Given the description of an element on the screen output the (x, y) to click on. 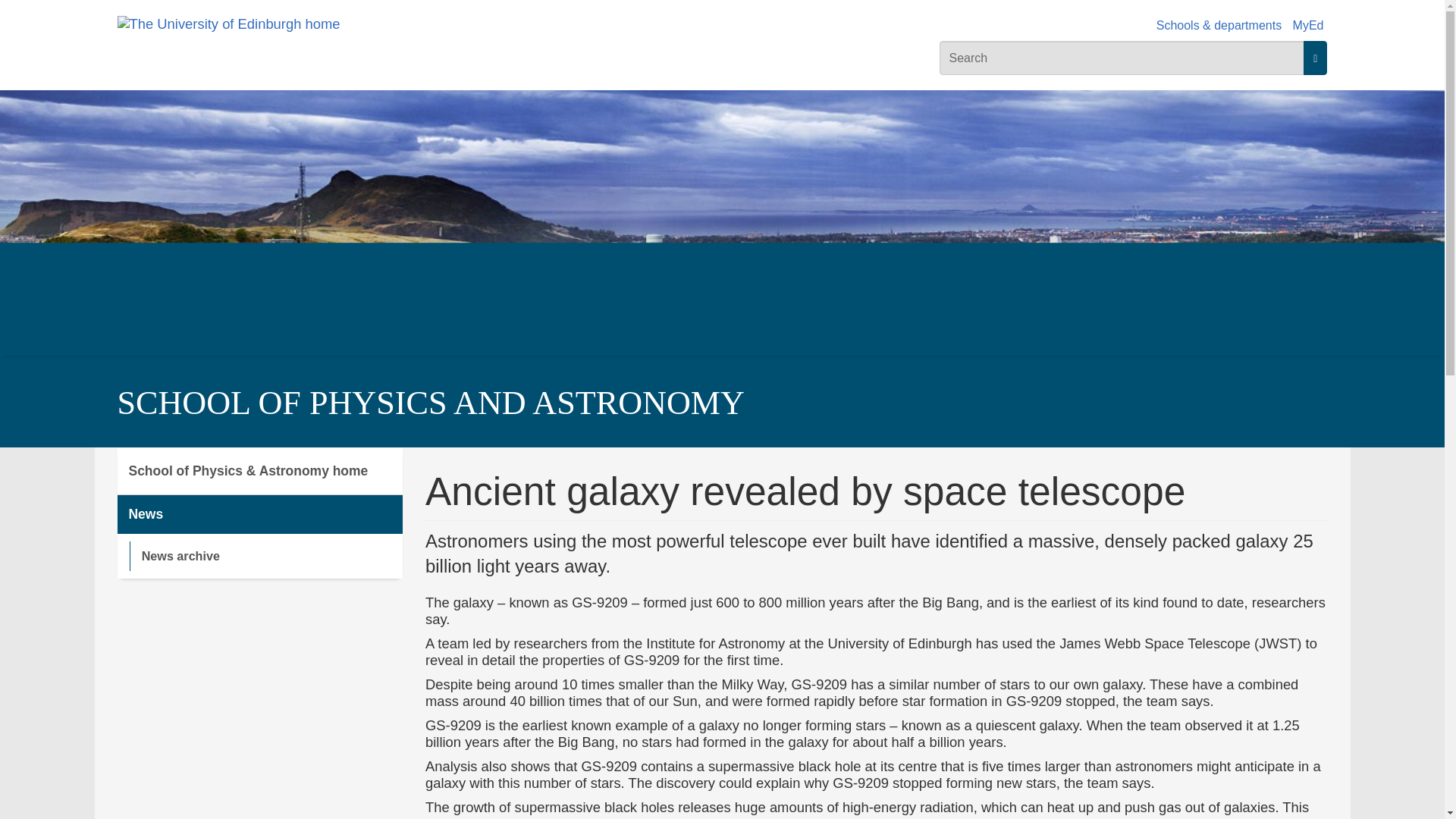
SCHOOL OF PHYSICS AND ASTRONOMY (430, 402)
MyEd (1307, 24)
News (259, 514)
News archive (266, 555)
